Given the description of an element on the screen output the (x, y) to click on. 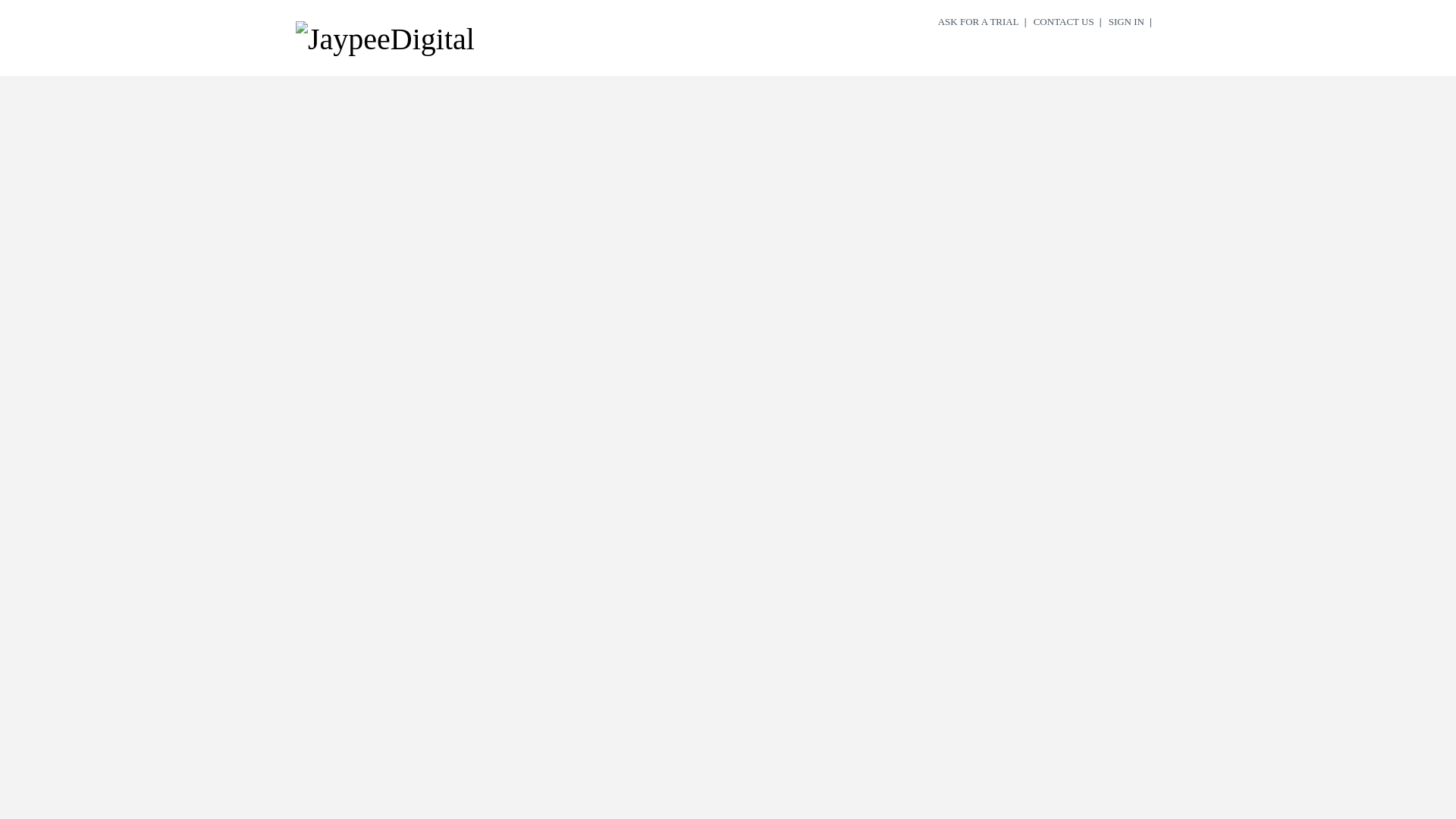
ASK FOR A TRIAL (978, 21)
SIGN IN (1126, 21)
CONTACT US (1063, 21)
